Given the description of an element on the screen output the (x, y) to click on. 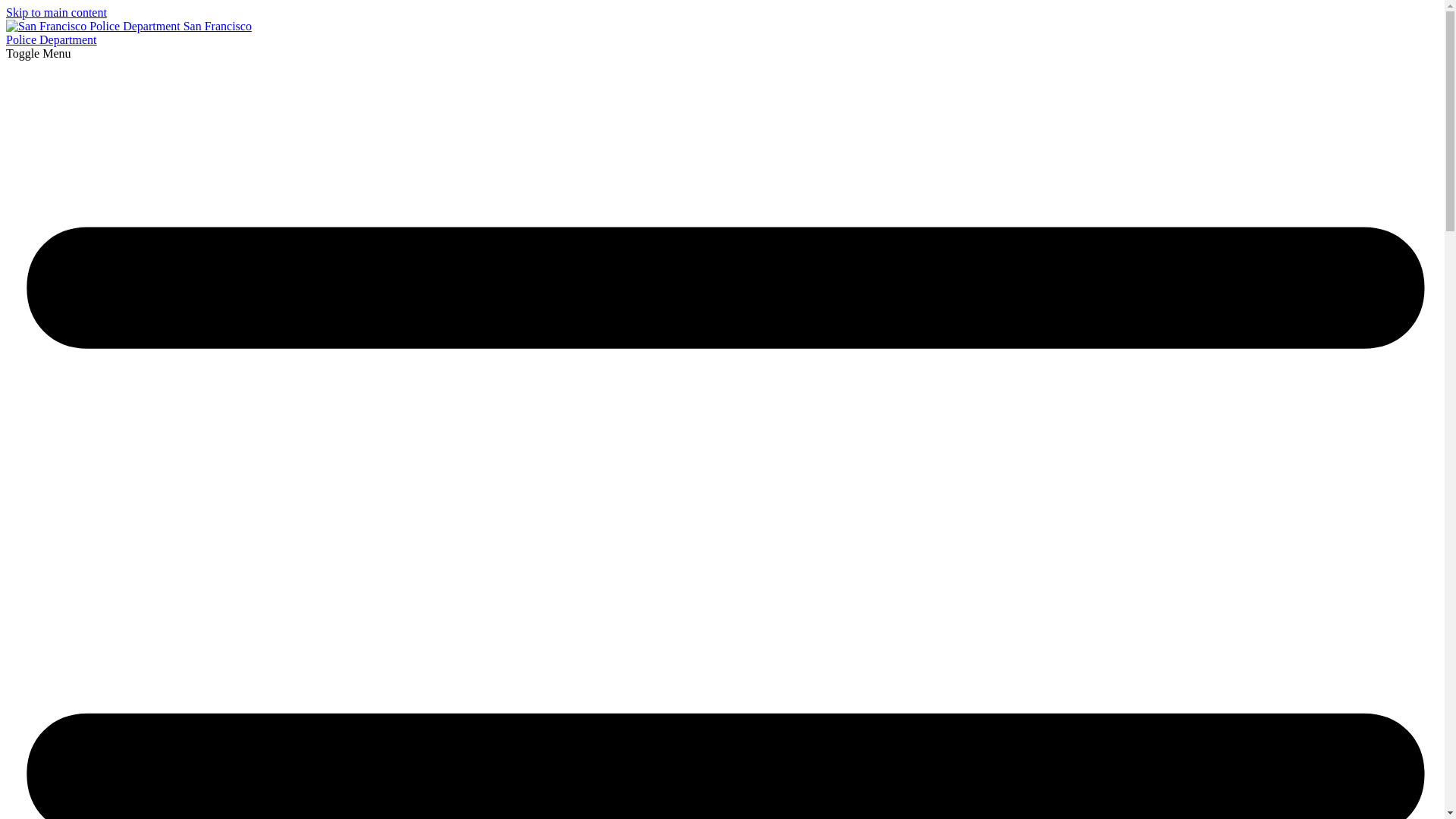
Home (128, 32)
Home (94, 25)
Skip to main content (55, 11)
